Given the description of an element on the screen output the (x, y) to click on. 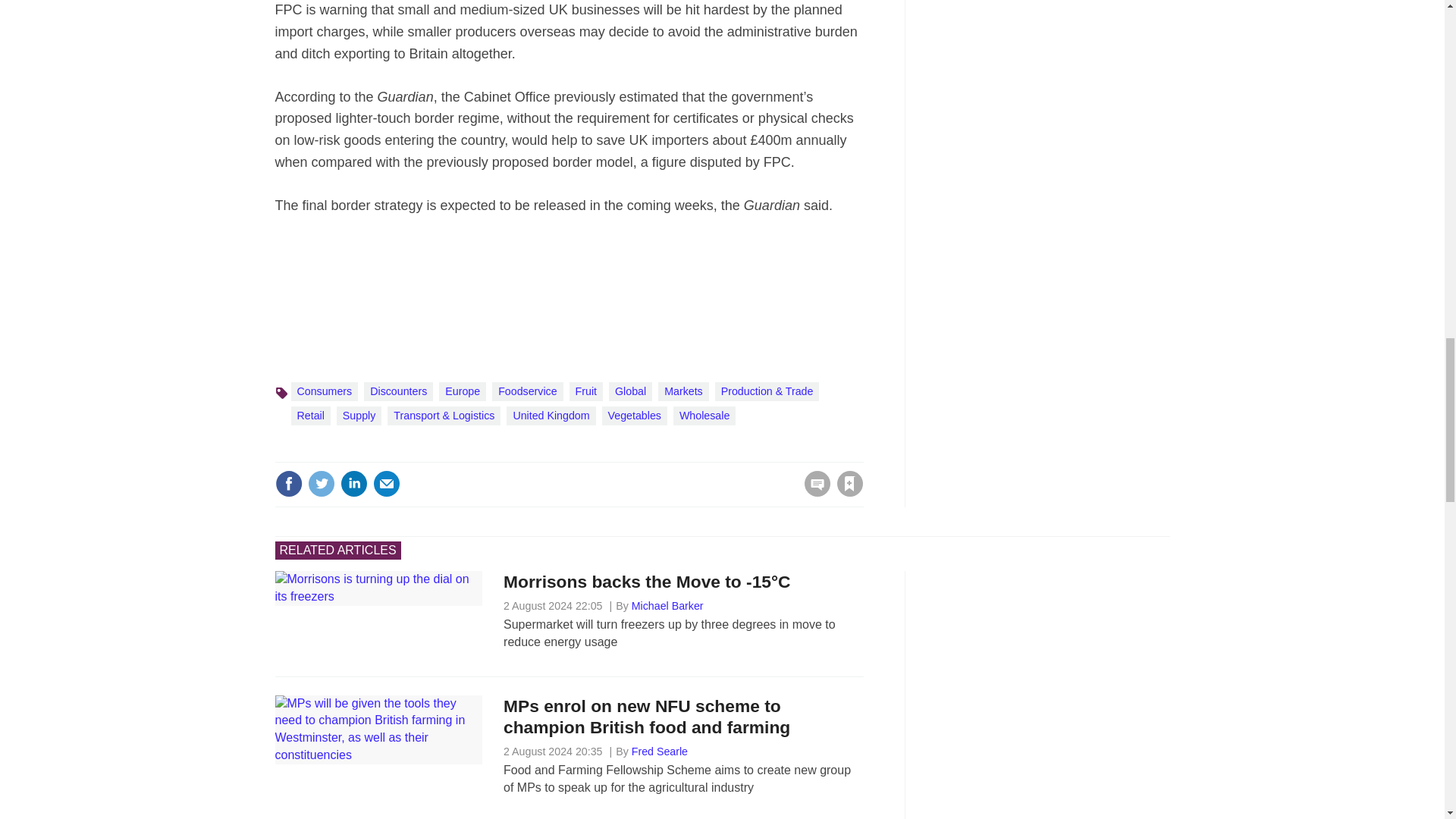
Email this article (386, 483)
Share this on Facebook (288, 483)
Share this on Linked in (352, 483)
No comments (812, 492)
Share this on Twitter (320, 483)
